Given the description of an element on the screen output the (x, y) to click on. 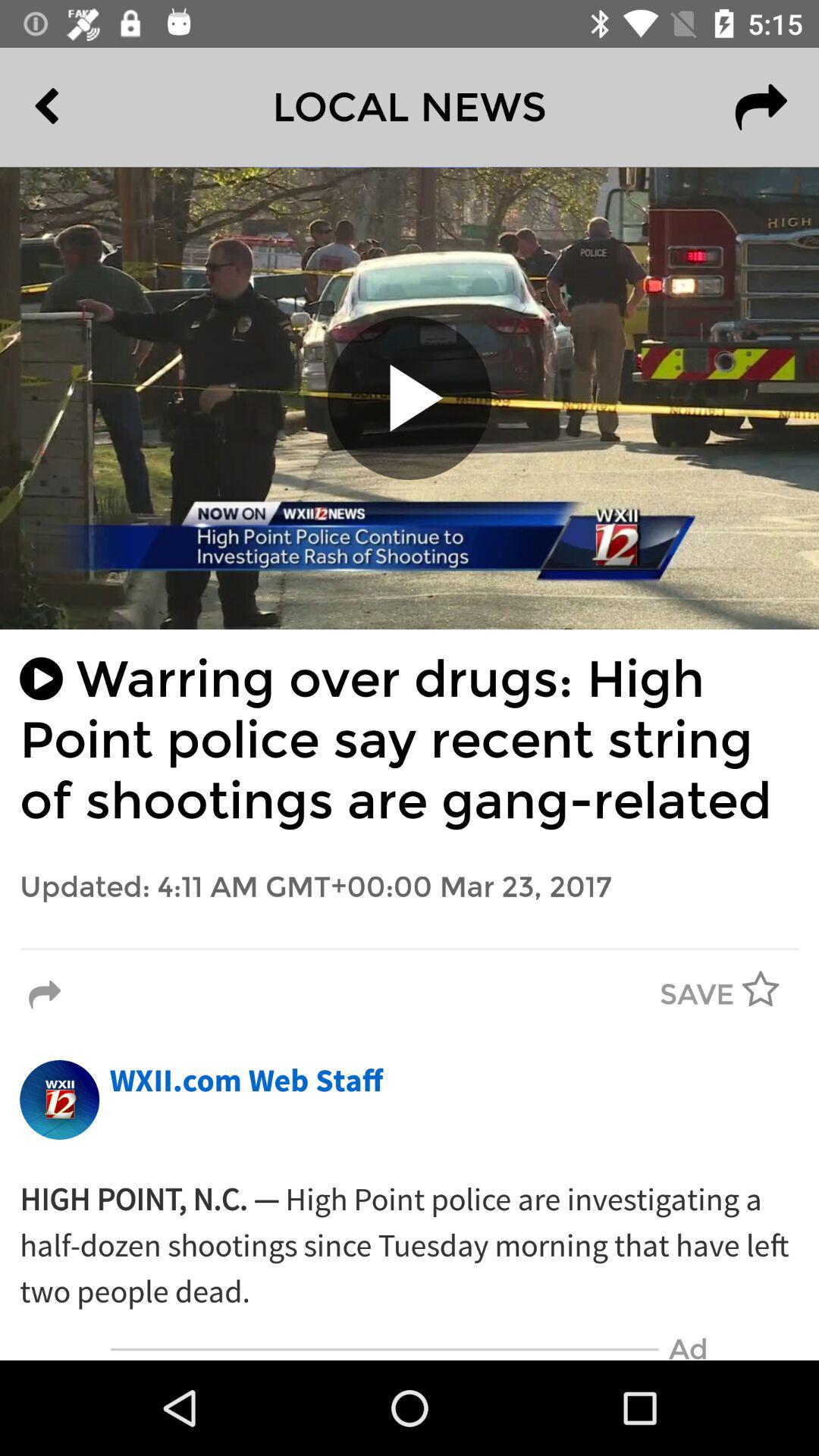
tap the item at the top right corner (761, 107)
